Given the description of an element on the screen output the (x, y) to click on. 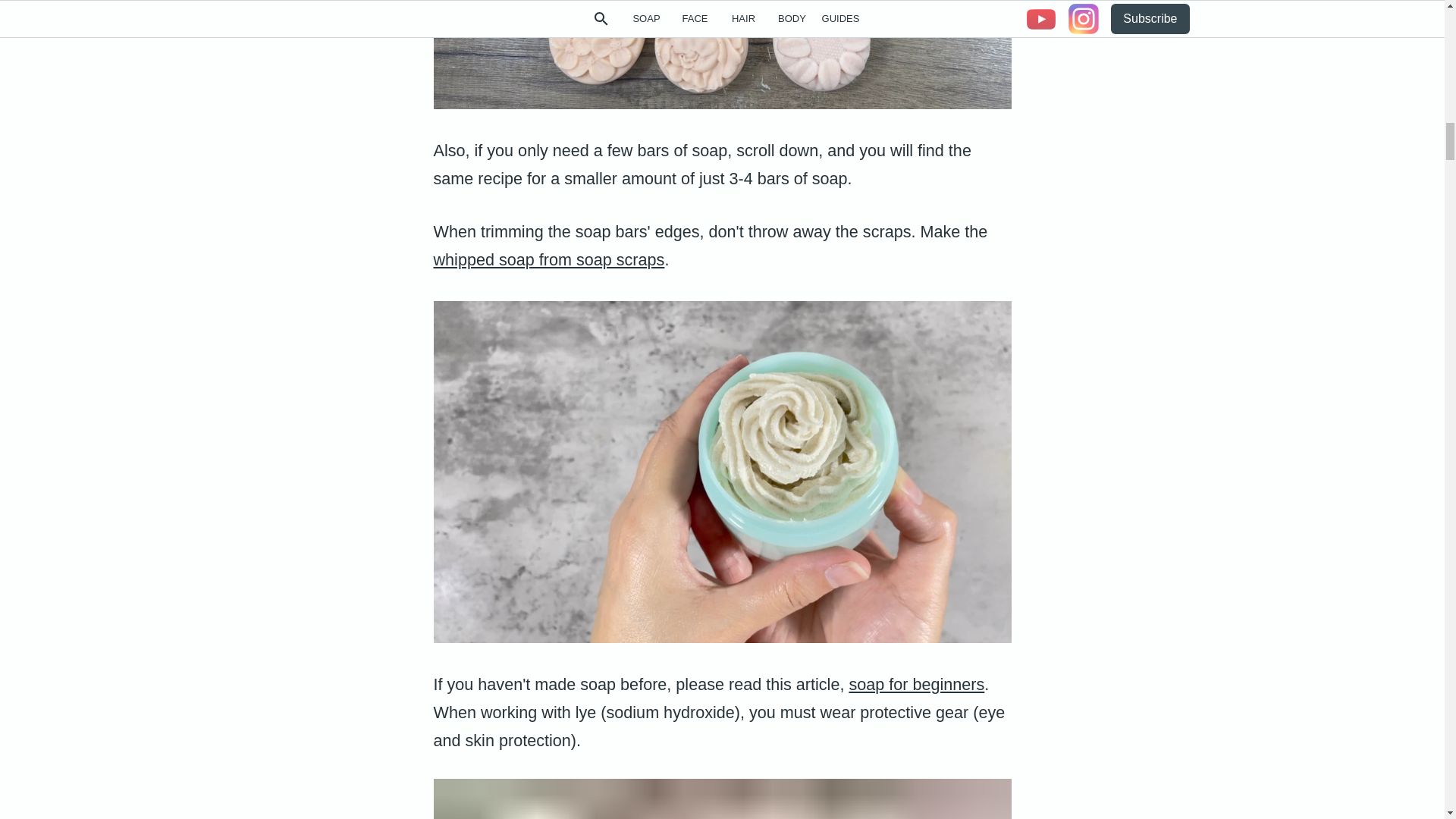
whipped soap from soap scraps (549, 259)
soap for beginners (916, 683)
soap3oils31 (722, 54)
